Given the description of an element on the screen output the (x, y) to click on. 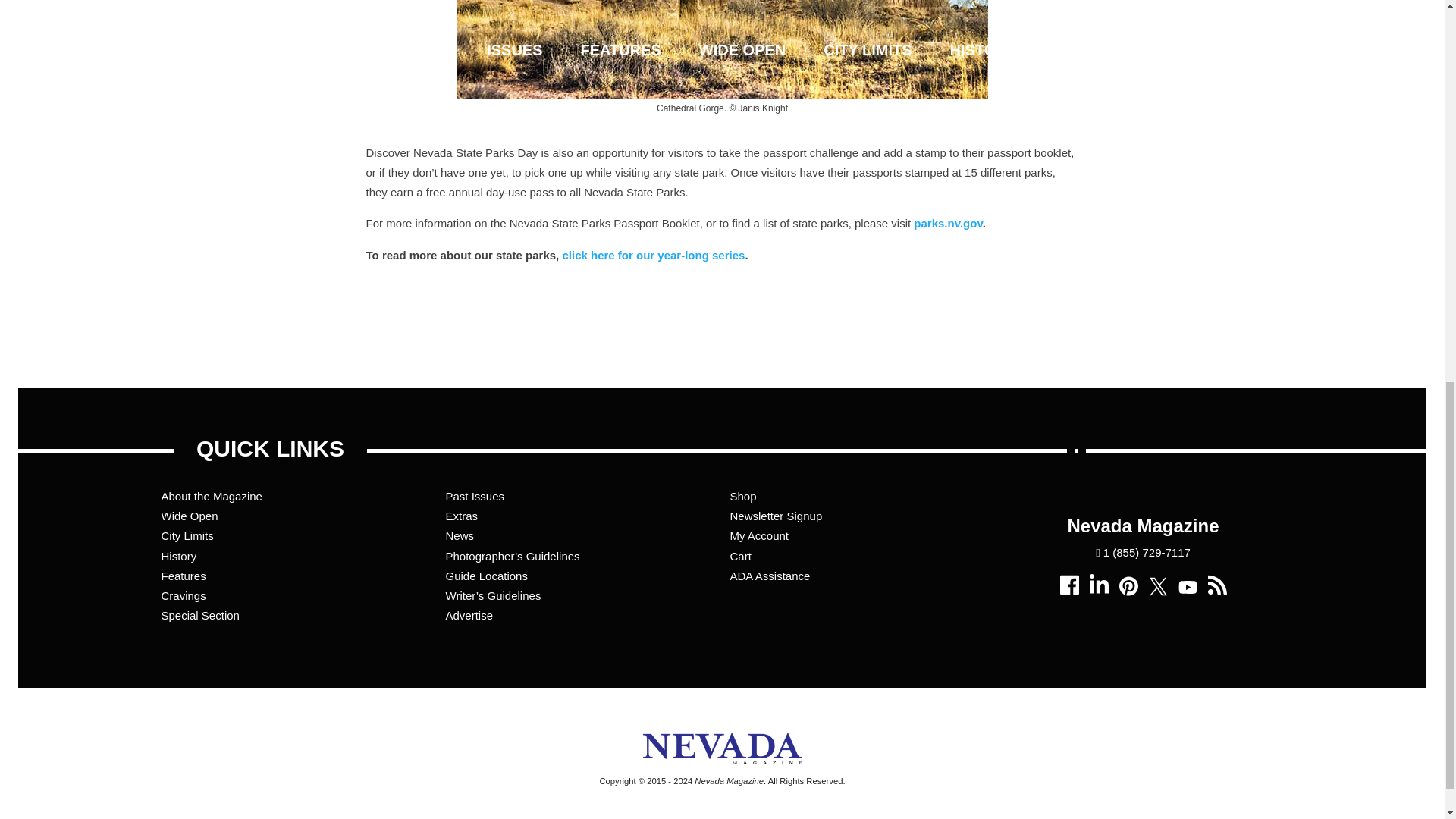
NEXT (1055, 338)
parks.nv.gov (947, 223)
PREVIOUS (389, 338)
Nevada Magazine (722, 772)
click here for our year-long series (653, 254)
Nevada Magazine (728, 781)
